Given the description of an element on the screen output the (x, y) to click on. 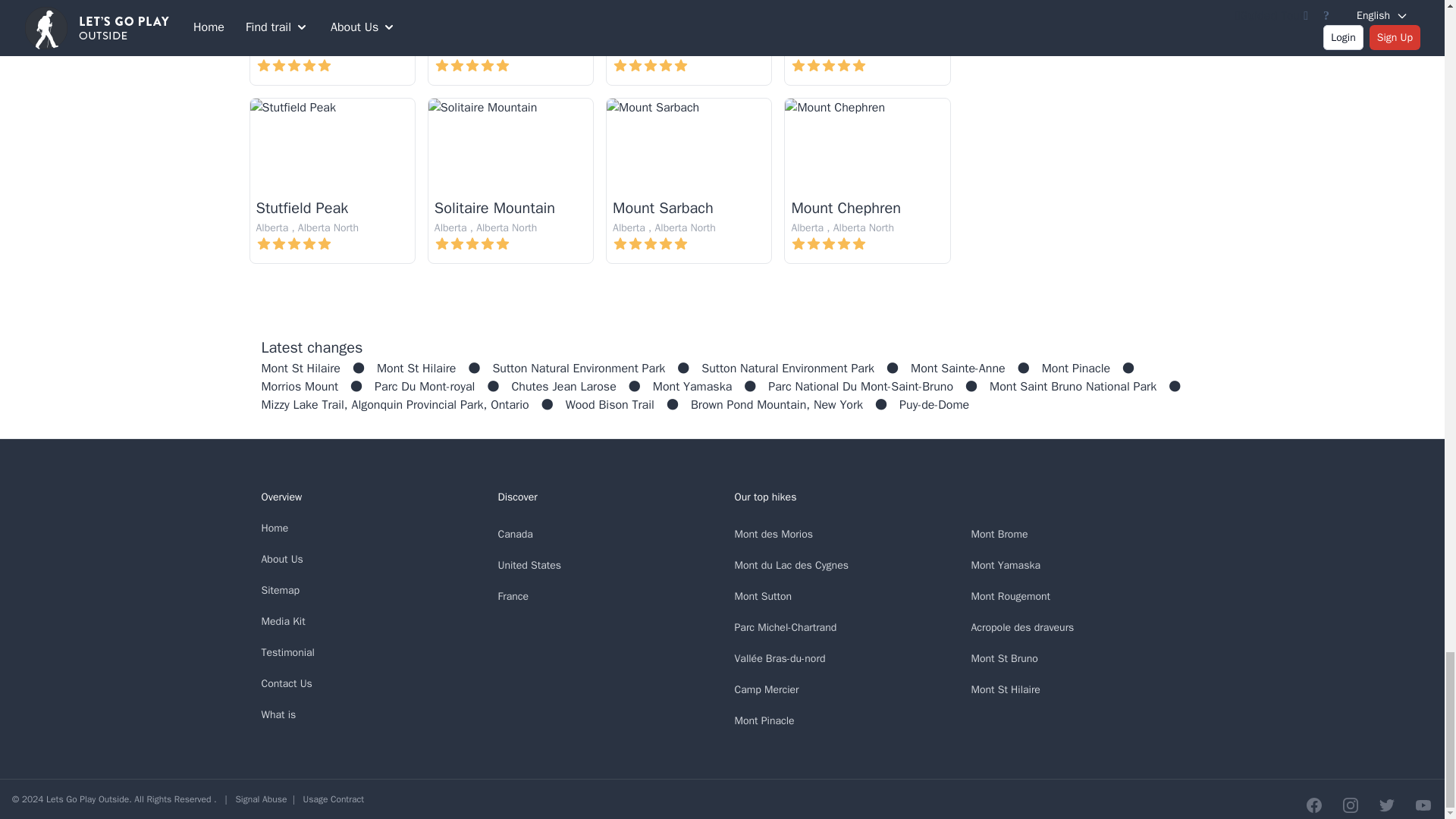
Mount Woolley (839, 29)
Mount Sarbach (662, 208)
Mushroom Peak (665, 29)
Snake Indian Mountain (332, 29)
Stutfield Peak (302, 208)
Mount Chephren (845, 208)
Fossil Mountain (485, 29)
Solitaire Mountain (493, 208)
